Given the description of an element on the screen output the (x, y) to click on. 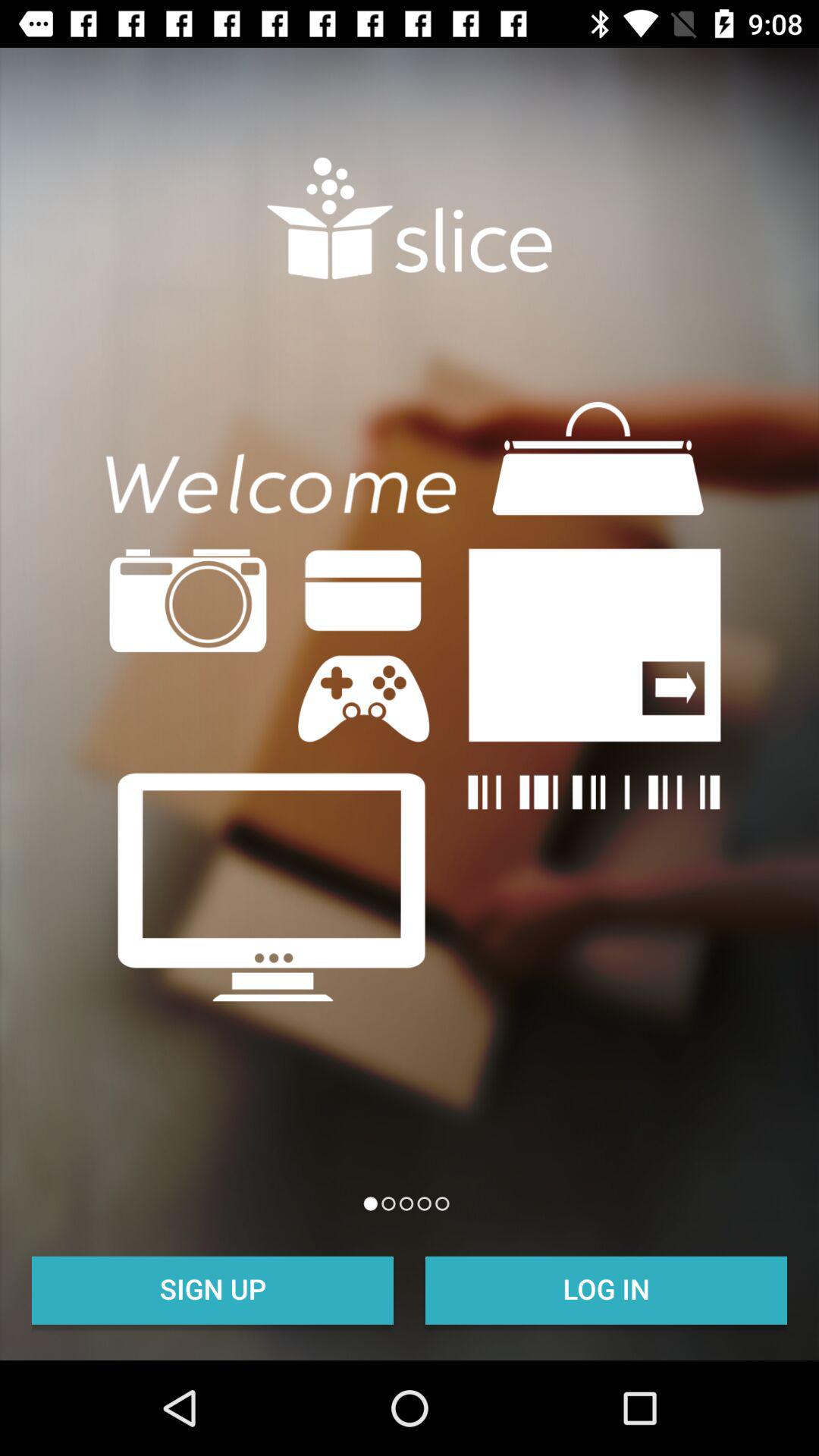
press icon at the bottom right corner (606, 1288)
